Given the description of an element on the screen output the (x, y) to click on. 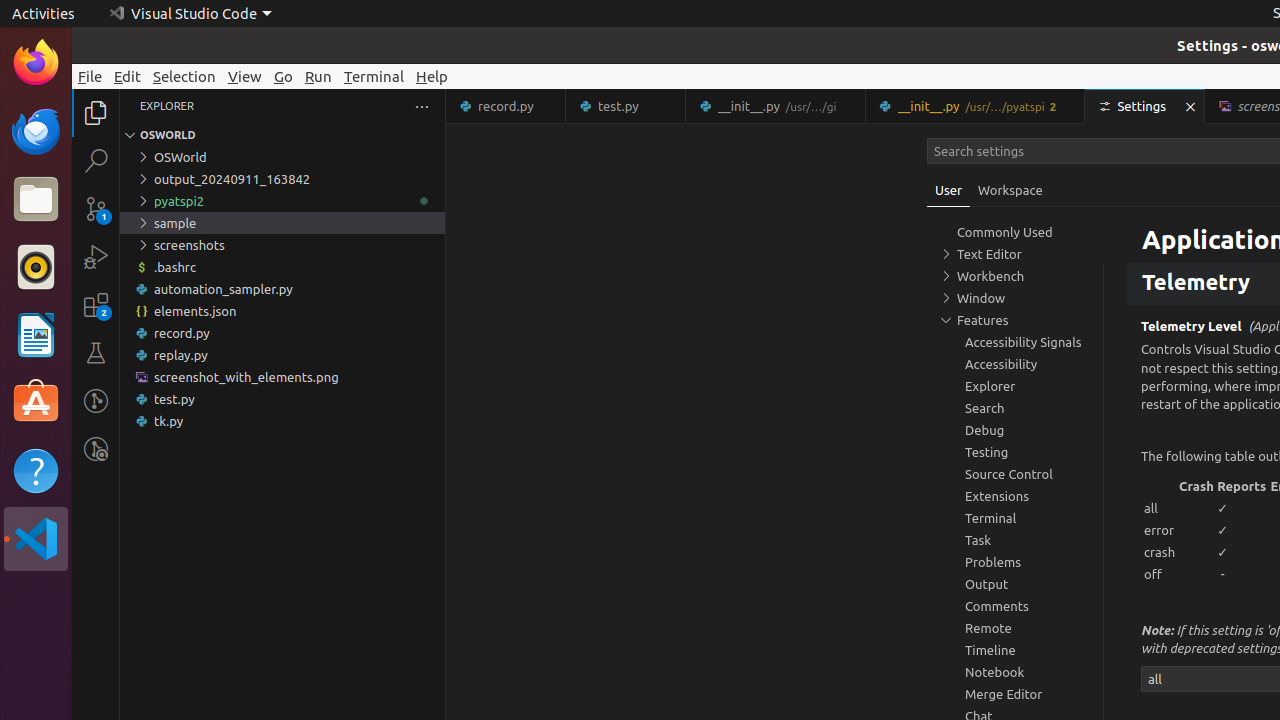
Explorer (Ctrl+Shift+E) Element type: page-tab (96, 113)
Search, group Element type: tree-item (1015, 408)
elements.json Element type: tree-item (282, 311)
screenshot_with_elements.png Element type: tree-item (282, 377)
Firefox Web Browser Element type: push-button (36, 63)
